Given the description of an element on the screen output the (x, y) to click on. 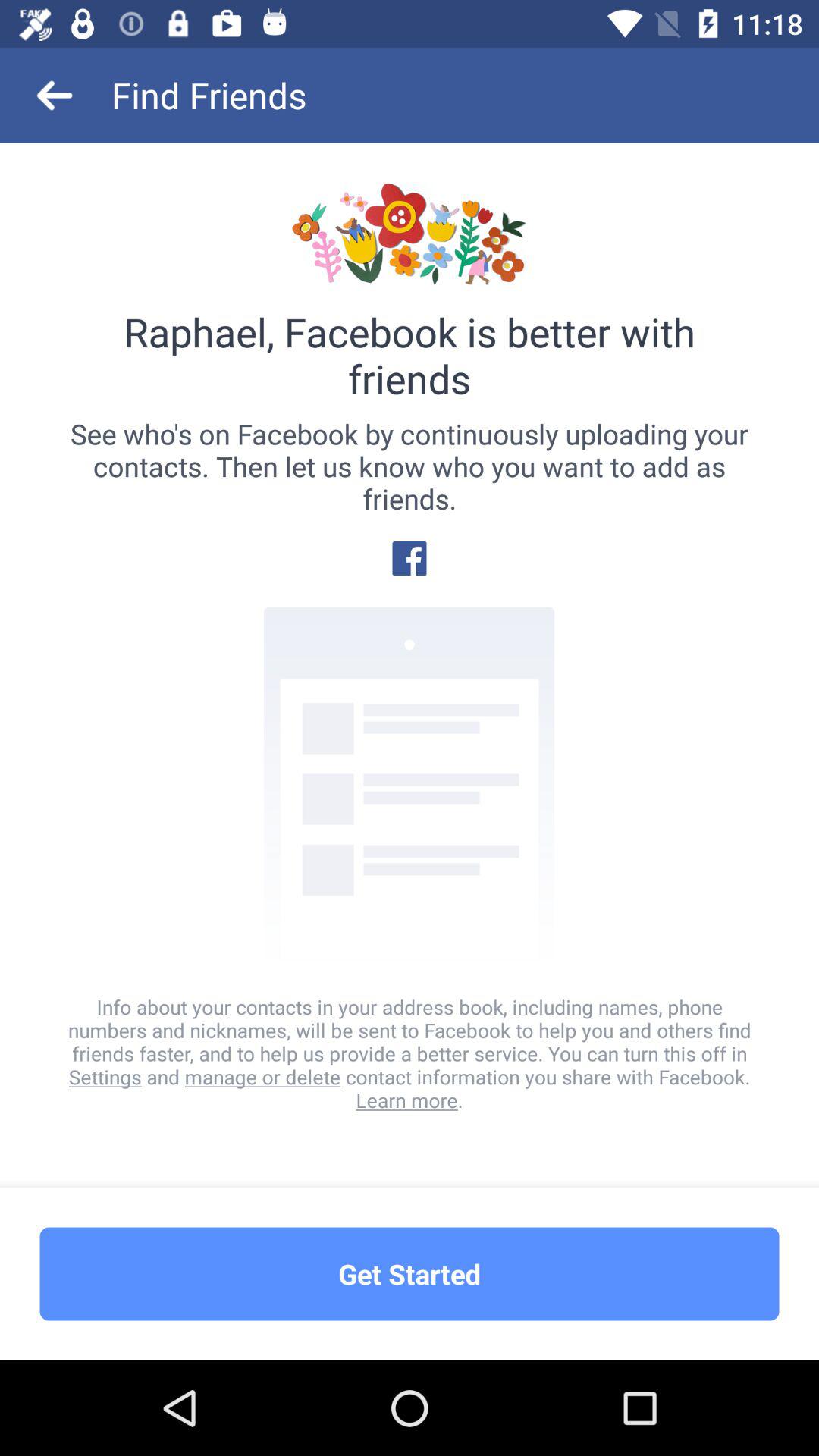
tap the icon to the left of the find friends (55, 95)
